Given the description of an element on the screen output the (x, y) to click on. 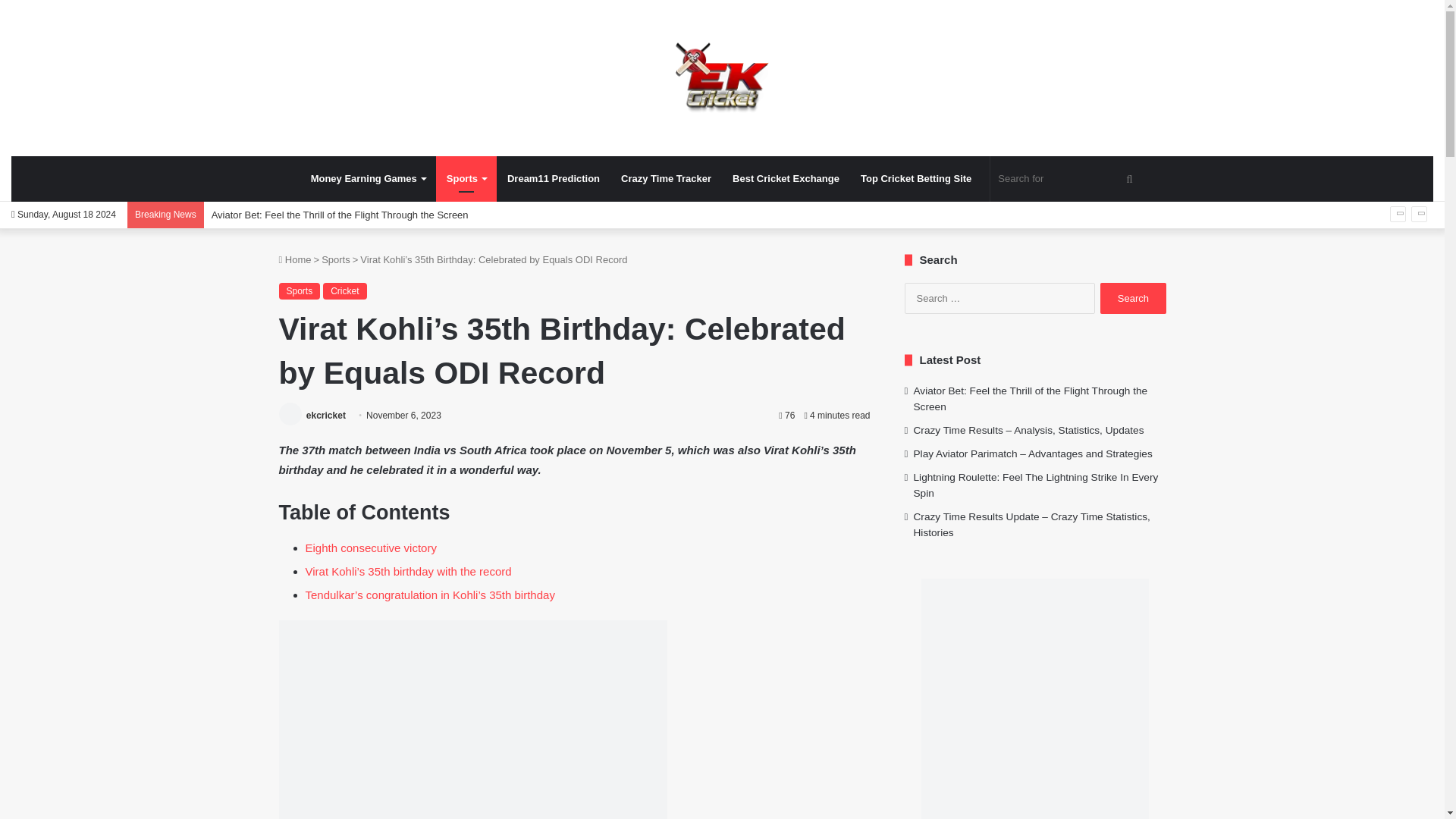
Search (1133, 297)
Top Cricket Betting Site (915, 178)
Sports (465, 178)
Home (295, 259)
ekcricket (722, 77)
ekcricket (325, 415)
Eighth consecutive victory (369, 547)
ekcricket (325, 415)
Cricket (344, 290)
Search (1133, 297)
